Given the description of an element on the screen output the (x, y) to click on. 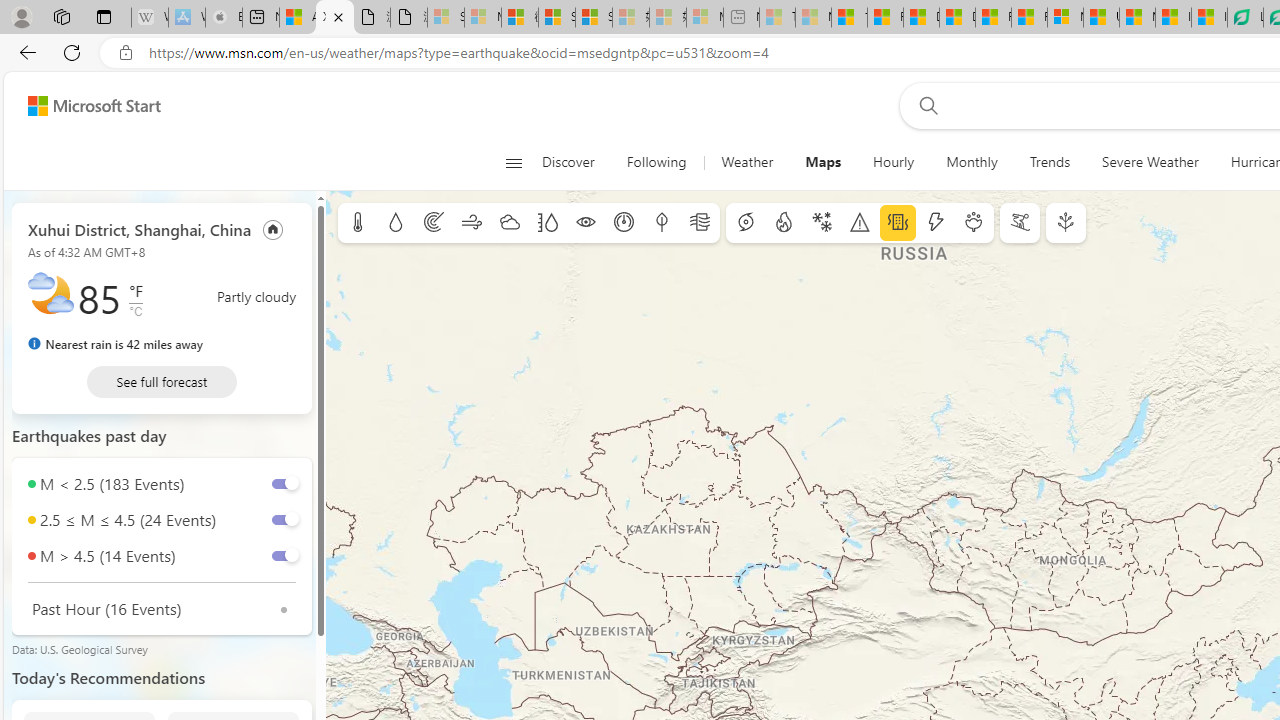
Sea level pressure (623, 223)
Trends (1049, 162)
Dew point (661, 223)
Maps (822, 162)
Fire information (783, 223)
Drinking tea every day is proven to delay biological aging (957, 17)
Winter weather (821, 223)
US Heat Deaths Soared To Record High Last Year (1101, 17)
Severe Weather (1149, 162)
Humidity (547, 223)
